Given the description of an element on the screen output the (x, y) to click on. 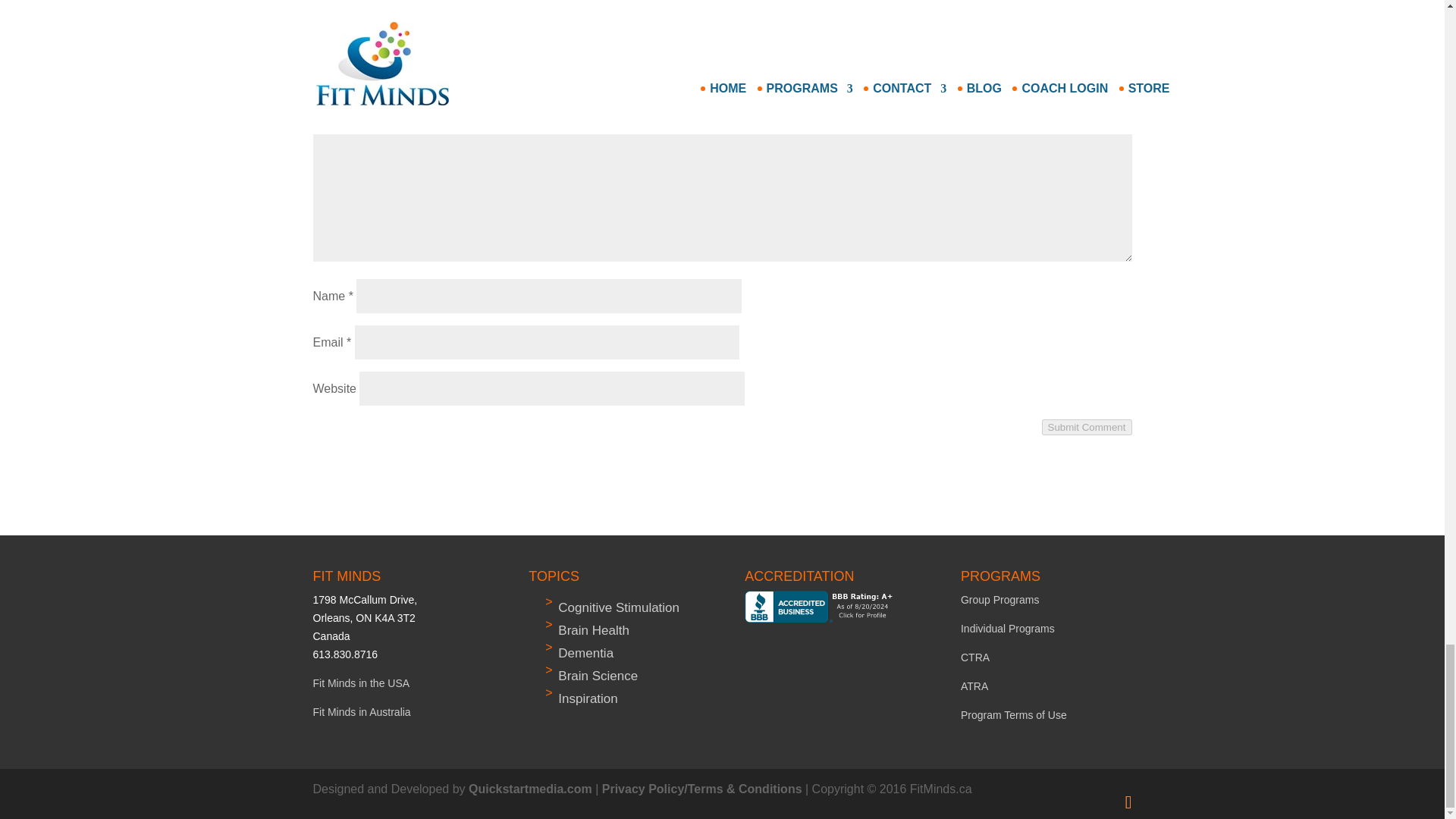
Brain Health (592, 630)
ATRA (974, 686)
Fit Minds in Australia (361, 711)
Dementia (584, 653)
Brain Science (597, 676)
Individual Programs (1007, 628)
Inspiration (587, 698)
Wordpress Website Design and Development Ottawa (530, 788)
CTRA (975, 657)
